Given the description of an element on the screen output the (x, y) to click on. 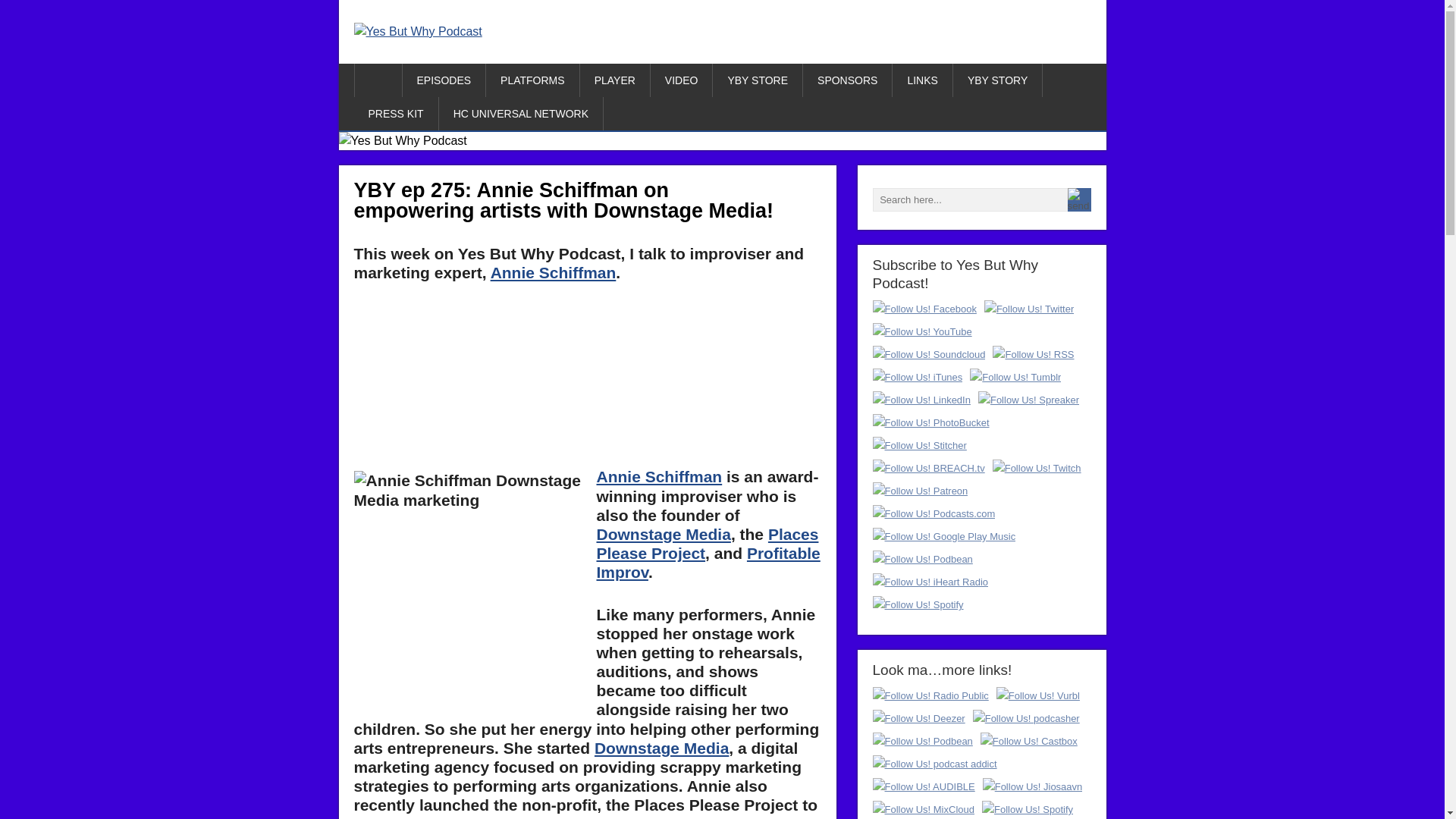
Places Please Project (706, 543)
Follow Us! Soundcloud (928, 353)
YBY STORE (758, 80)
Follow Us! Facebook (923, 308)
Downstage Media (661, 747)
Downstage Media (662, 533)
PLAYER (614, 80)
LINKS (922, 80)
Annie Schiffman (658, 476)
SPONSORS (847, 80)
